Given the description of an element on the screen output the (x, y) to click on. 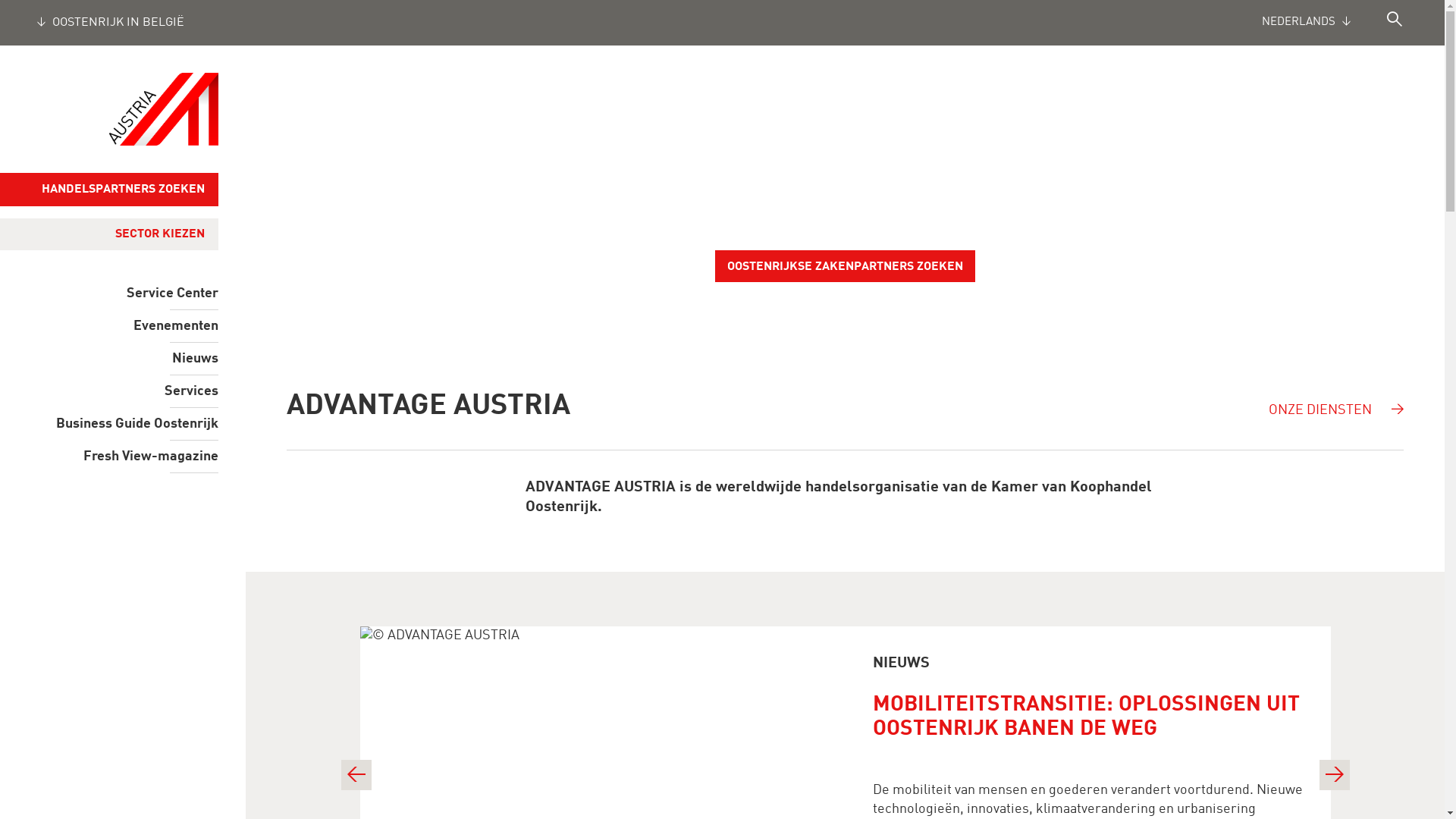
Fresh View-magazine Element type: text (109, 456)
Evenementen Element type: text (109, 325)
Nieuws Element type: text (109, 358)
Business Guide Oostenrijk Element type: text (109, 423)
ONZE DIENSTEN Element type: text (1338, 399)
NEDERLANDS Element type: text (1323, 22)
Services Element type: text (109, 390)
Logo Element type: hover (164, 108)
OOSTENRIJKSE ZAKENPARTNERS ZOEKEN Element type: text (845, 266)
Service Center Element type: text (109, 293)
HANDELSPARTNERS ZOEKEN Element type: text (109, 189)
SECTOR KIEZEN Element type: text (102, 234)
